Given the description of an element on the screen output the (x, y) to click on. 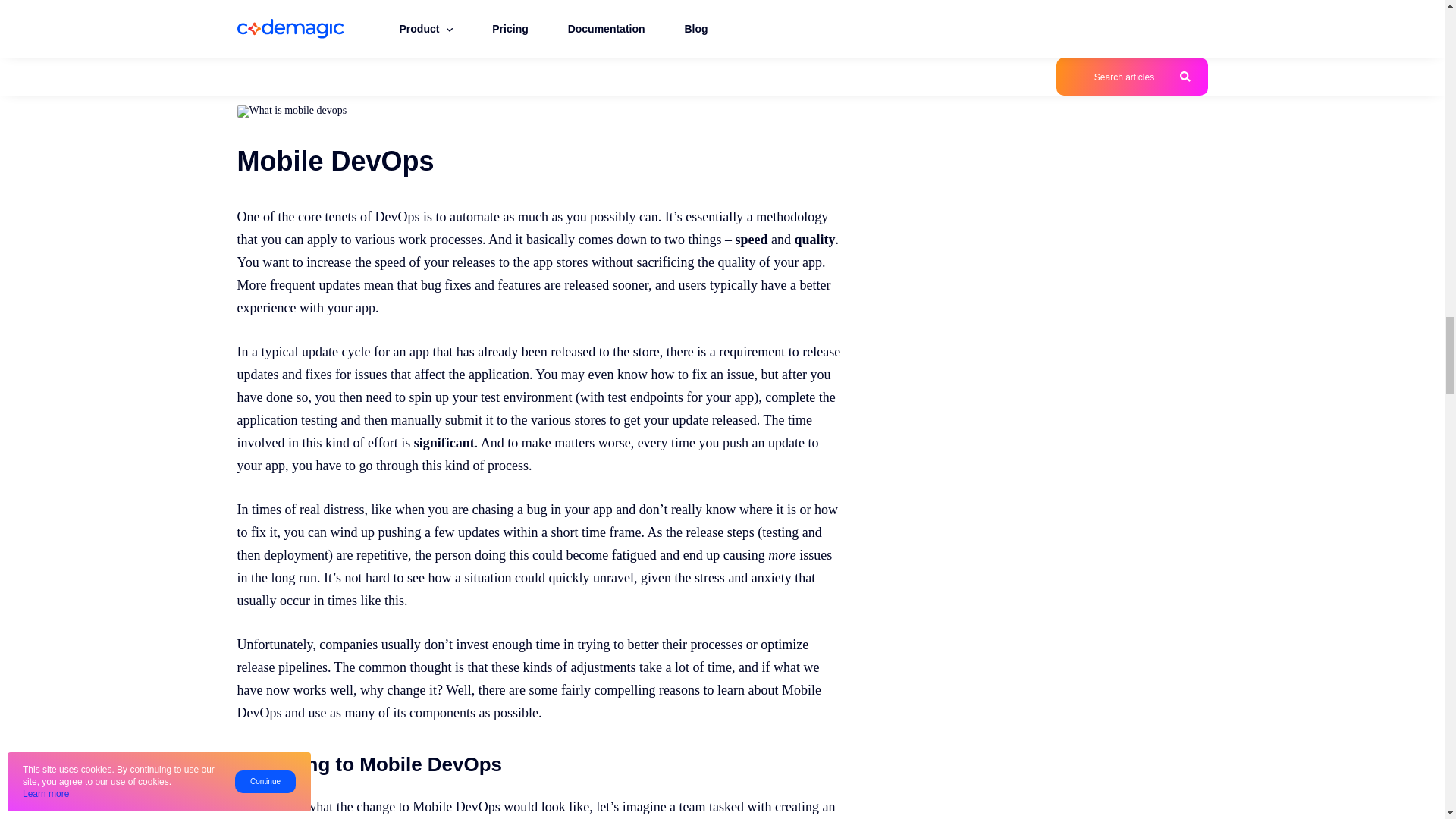
Mobile DevOps (290, 111)
